Given the description of an element on the screen output the (x, y) to click on. 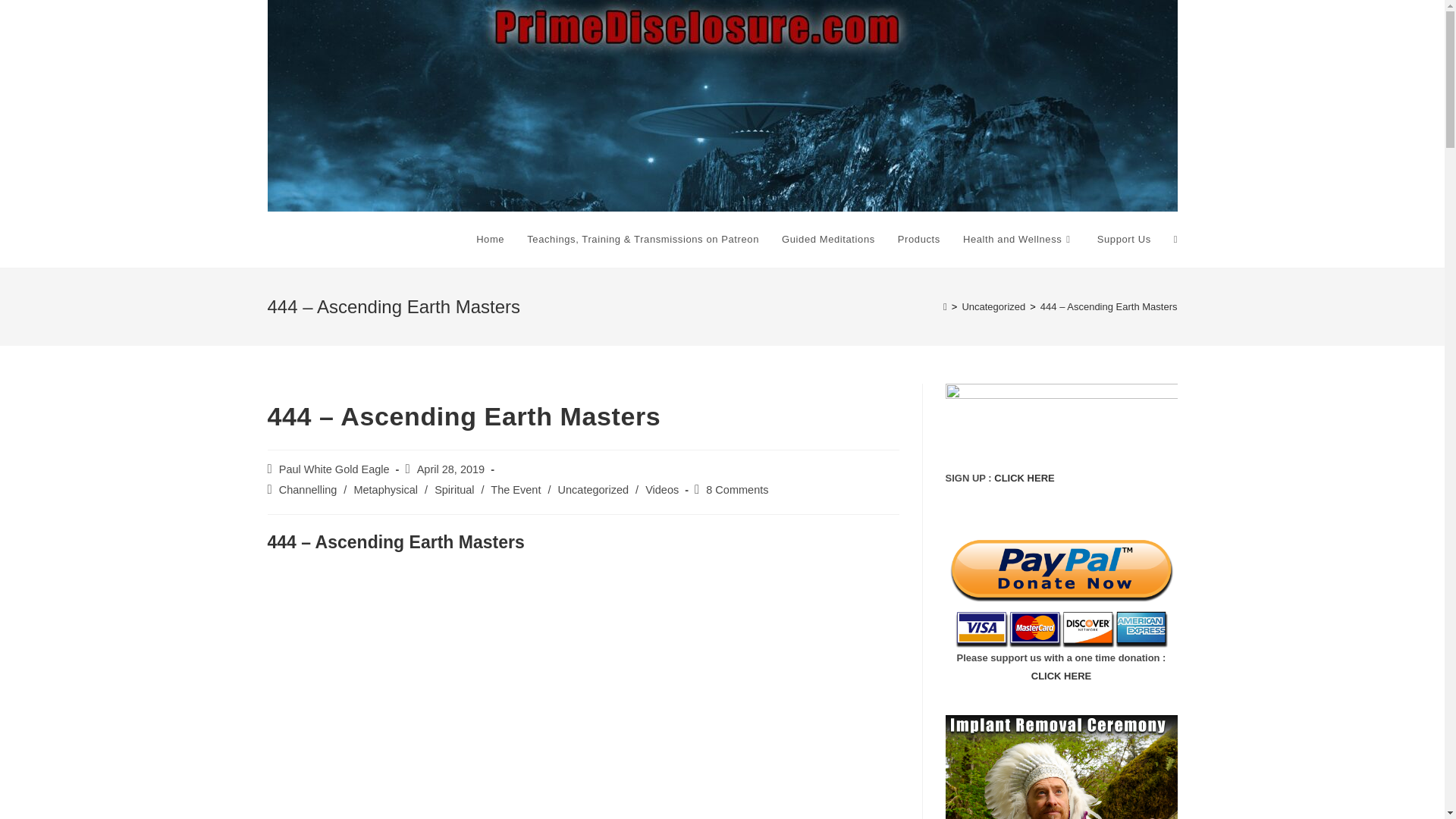
8 Comments (737, 490)
Uncategorized (992, 306)
Spiritual (453, 490)
Uncategorized (592, 490)
Paul White Gold Eagle (334, 469)
Metaphysical (385, 490)
The Event (515, 490)
Support Us (1123, 239)
Videos (661, 490)
Posts by Paul White Gold Eagle (334, 469)
